Given the description of an element on the screen output the (x, y) to click on. 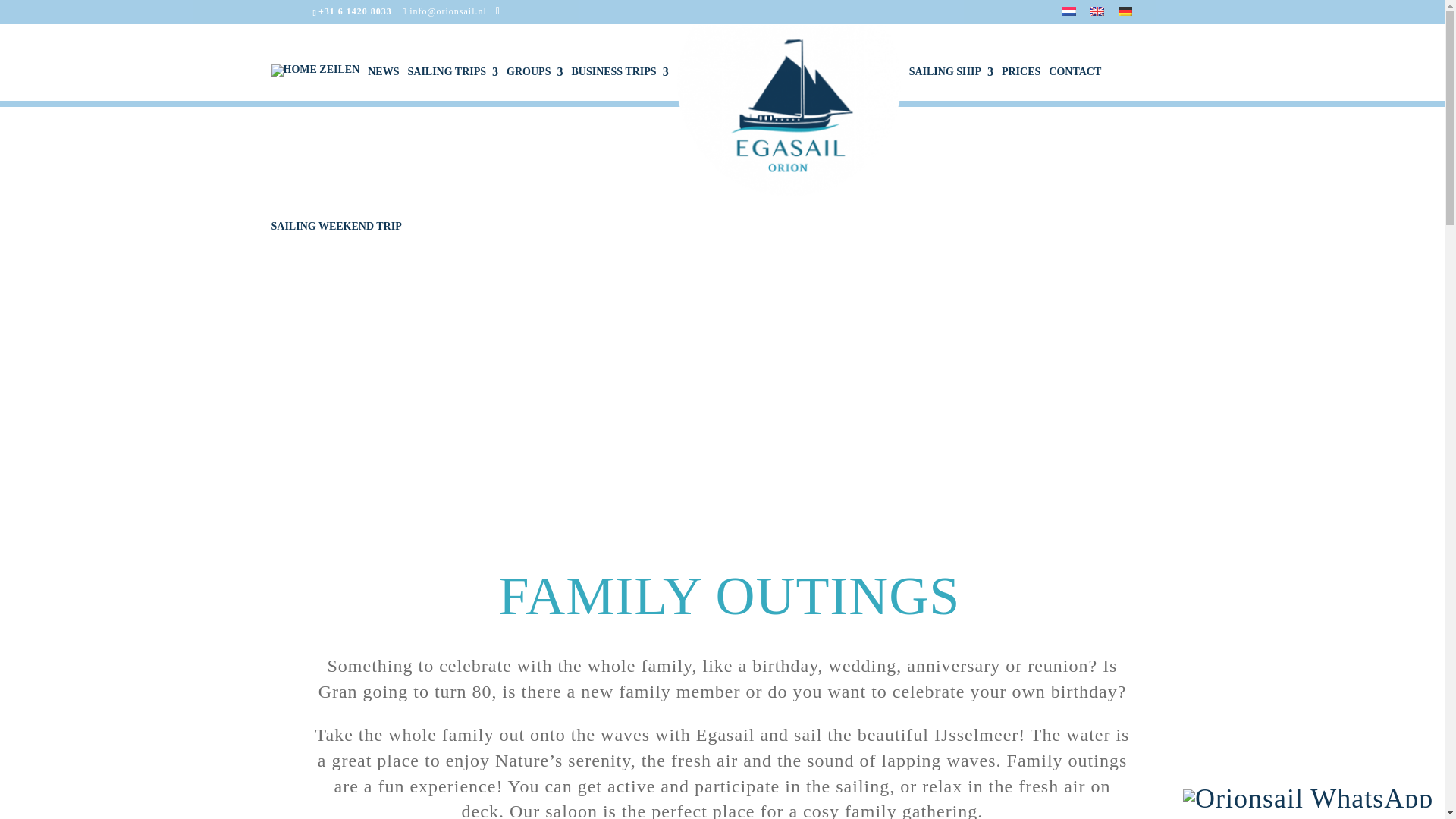
GROUPS (534, 84)
SAILING WEEKEND TRIP (335, 239)
SAILING TRIPS (452, 84)
BUSINESS TRIPS (619, 84)
CONTACT (1074, 84)
SAILING SHIP (950, 84)
PRICES (1021, 84)
